Given the description of an element on the screen output the (x, y) to click on. 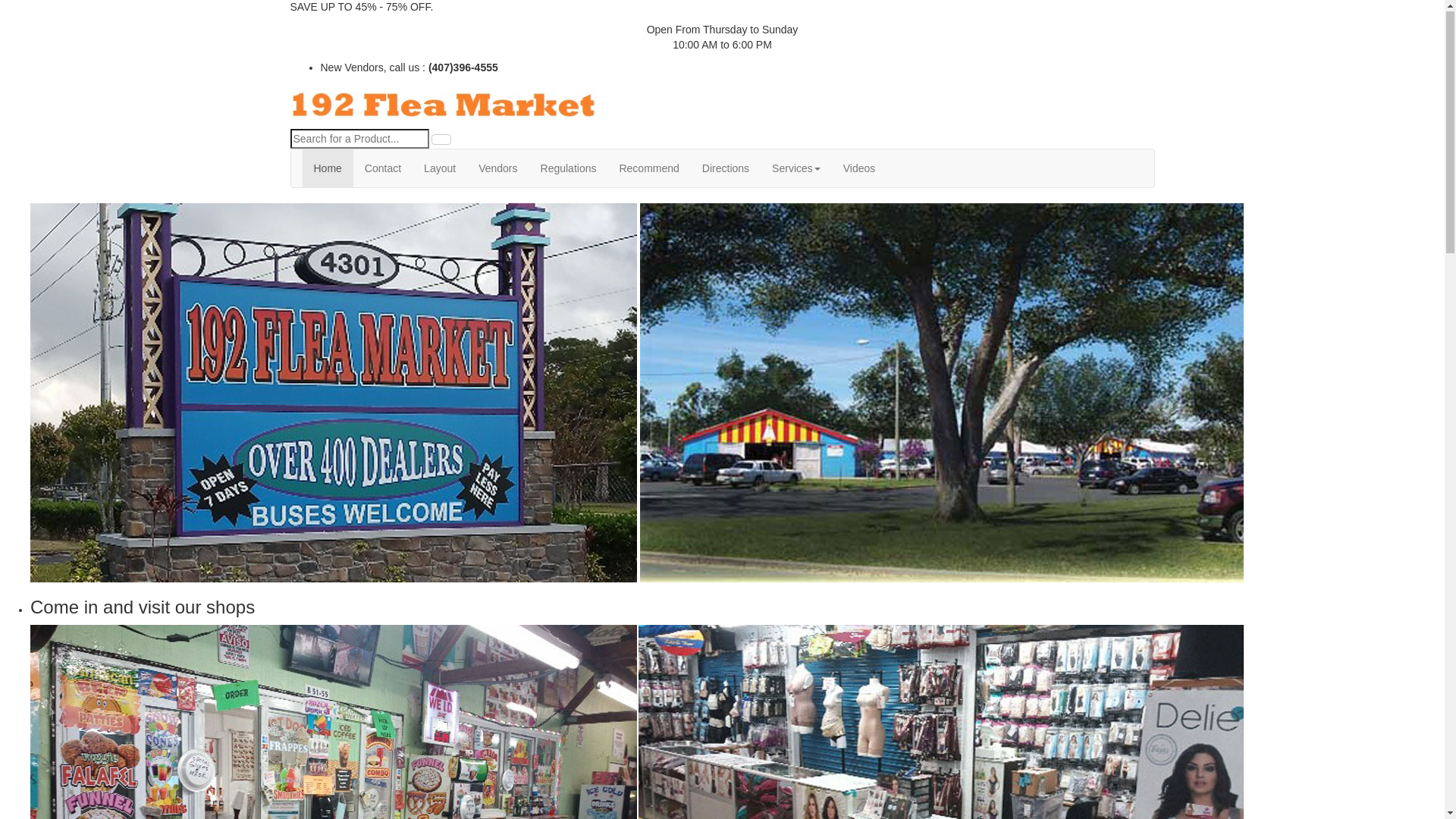
Vendors Element type: text (497, 169)
Regulations Element type: text (568, 169)
Services Element type: text (795, 169)
Layout Element type: text (439, 169)
Home Element type: text (326, 169)
Directions Element type: text (725, 169)
Contact Element type: text (382, 169)
Recommend Element type: text (648, 169)
Videos Element type: text (859, 169)
